Given the description of an element on the screen output the (x, y) to click on. 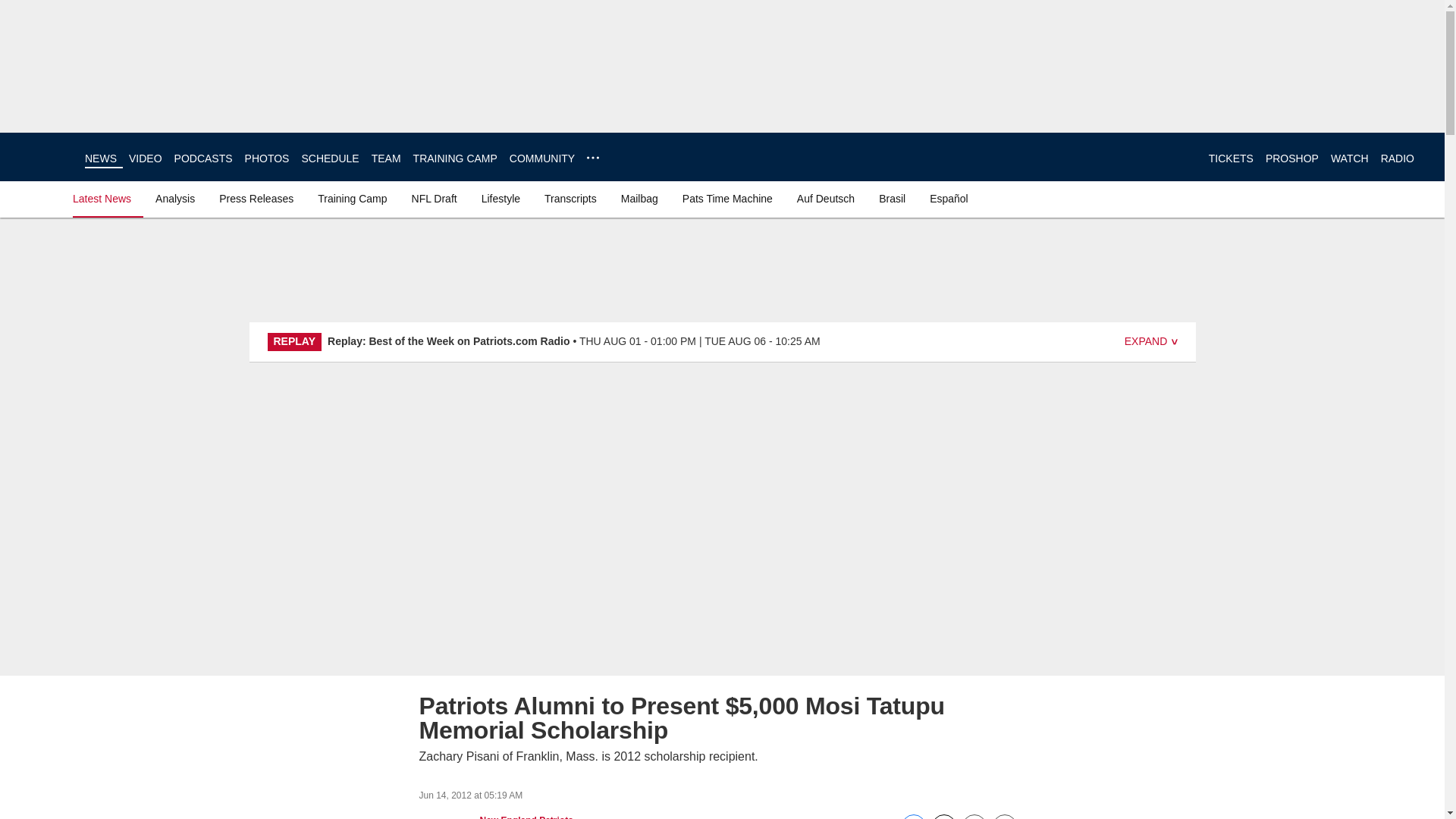
COMMUNITY (542, 158)
COMMUNITY (542, 158)
3rd party ad content (1394, 108)
SCHEDULE (329, 158)
Pats Time Machine (727, 198)
NEWS (100, 158)
PHOTOS (266, 158)
Press Releases (255, 198)
NFL Draft (434, 198)
SCHEDULE (329, 158)
PHOTOS (266, 158)
PROSHOP (1292, 158)
Transcripts (570, 198)
TEAM (386, 158)
Auf Deutsch (825, 198)
